Given the description of an element on the screen output the (x, y) to click on. 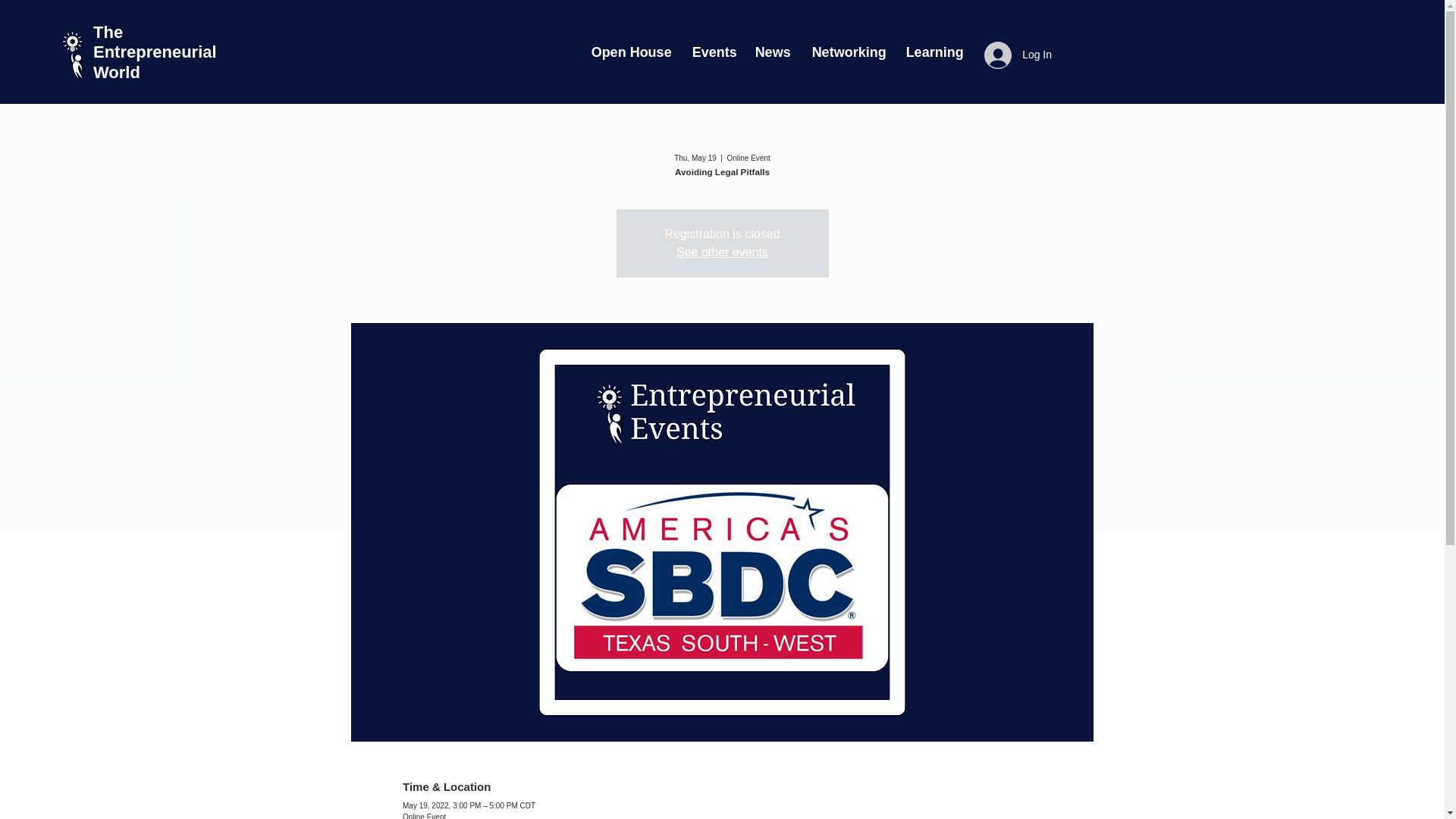
The (107, 31)
Log In (1018, 54)
Networking (847, 52)
Learning (932, 52)
See other events (722, 251)
Events (712, 52)
Open House (630, 52)
News (772, 52)
